Given the description of an element on the screen output the (x, y) to click on. 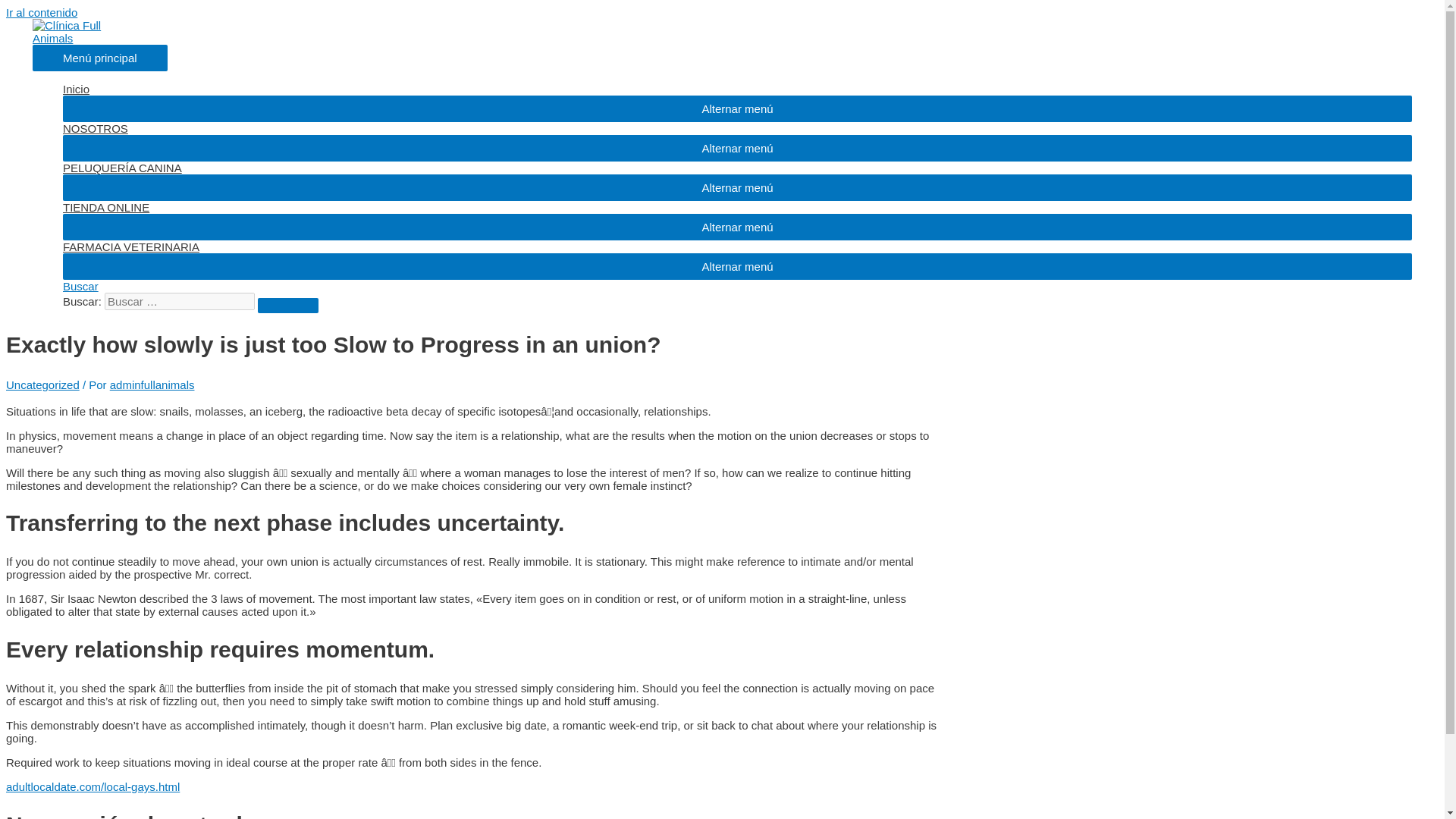
adminfullanimals (152, 384)
Uncategorized (42, 384)
Ir al contenido (41, 11)
Ver todas las entradas de adminfullanimals (152, 384)
Buscar (287, 305)
Buscar (80, 286)
